Given the description of an element on the screen output the (x, y) to click on. 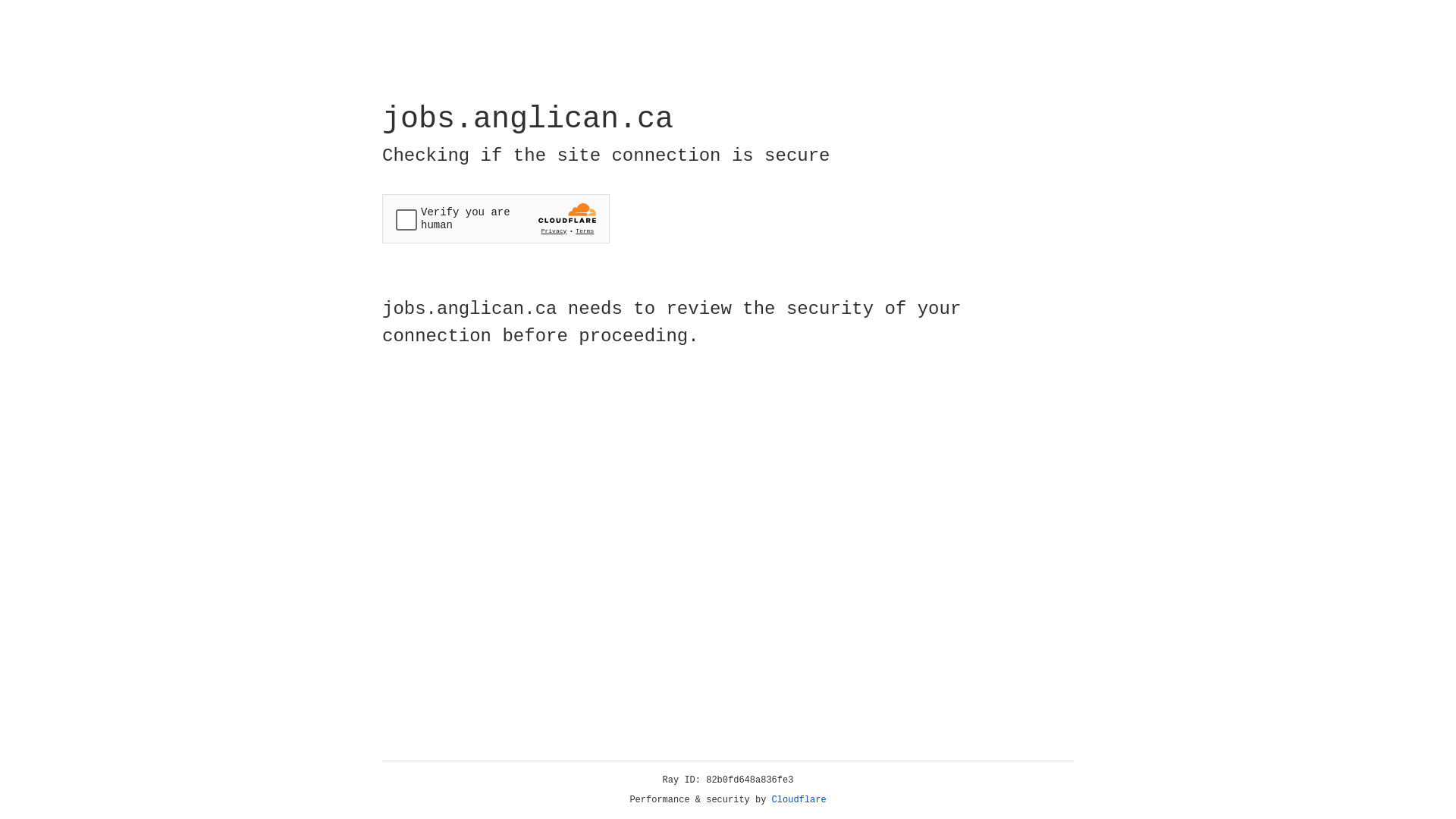
Widget containing a Cloudflare security challenge Element type: hover (495, 218)
Cloudflare Element type: text (798, 799)
